Given the description of an element on the screen output the (x, y) to click on. 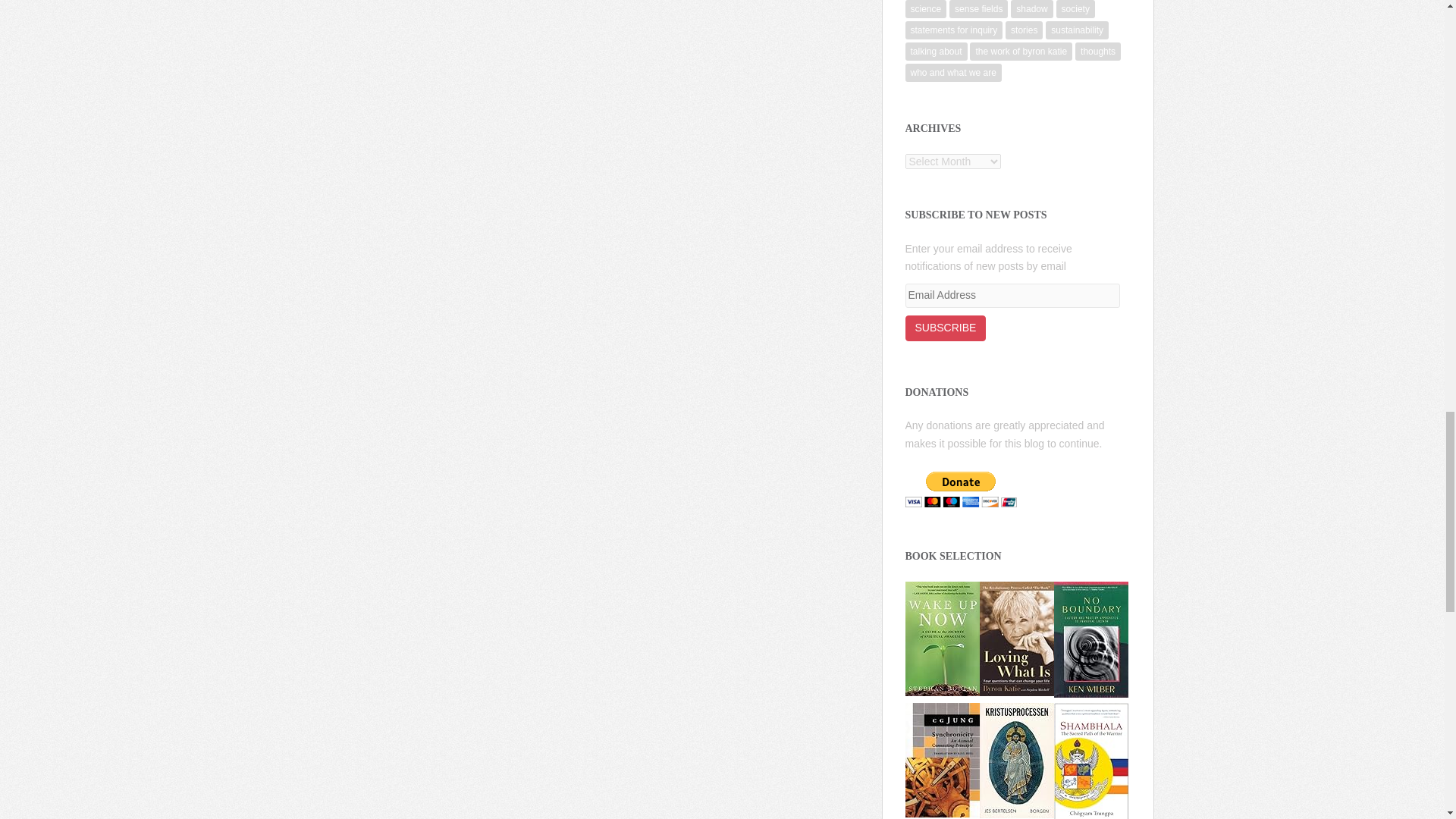
PayPal - The safer, easier way to pay online! (960, 488)
Kristusprocessen (1016, 759)
Shambhala: The Sacred Path of the Warrior (1091, 761)
Wake Up Now: A Guide to the Journey of Spiritual Awakening (942, 637)
Loving What Is: Four Questions That Can Change Your Life (1016, 637)
Synchronicity: An Acausal Connecting Principle (942, 758)
